Given the description of an element on the screen output the (x, y) to click on. 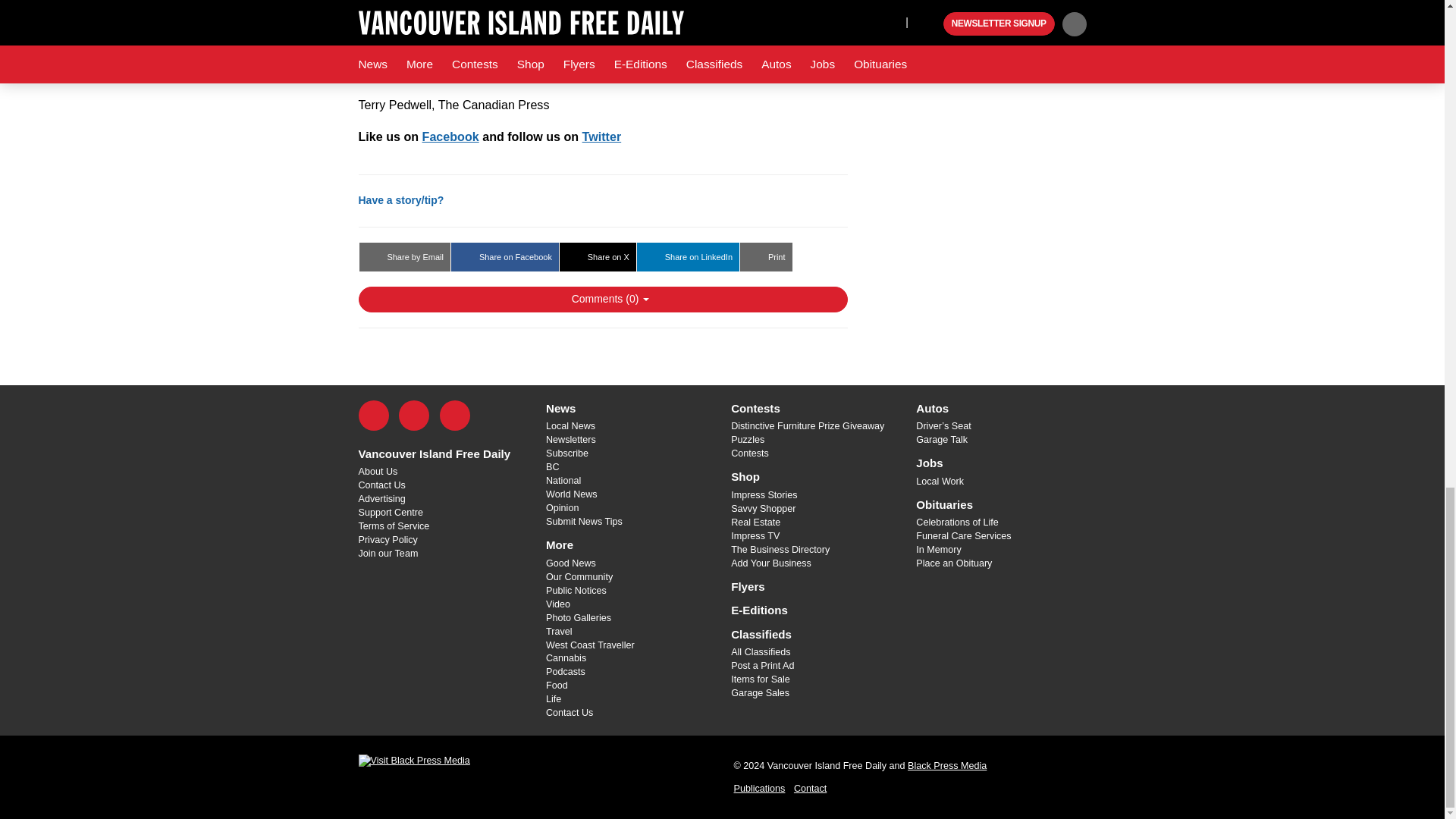
Facebook (373, 415)
X (413, 415)
Instagram (454, 415)
Show Comments (602, 299)
